Given the description of an element on the screen output the (x, y) to click on. 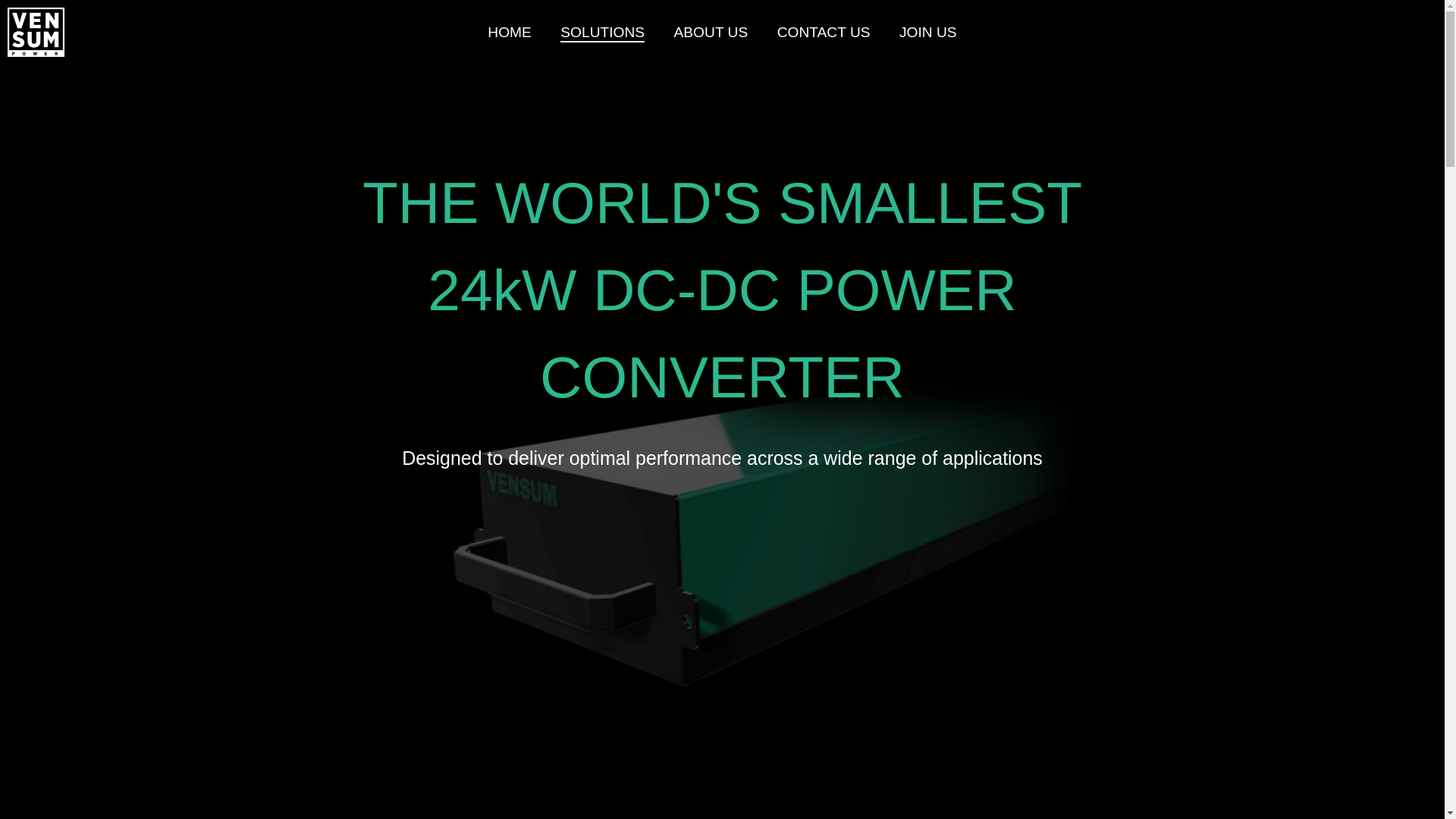
JOIN US (927, 32)
CONTACT US (823, 32)
HOME (509, 32)
SOLUTIONS (602, 32)
ABOUT US (711, 32)
